Given the description of an element on the screen output the (x, y) to click on. 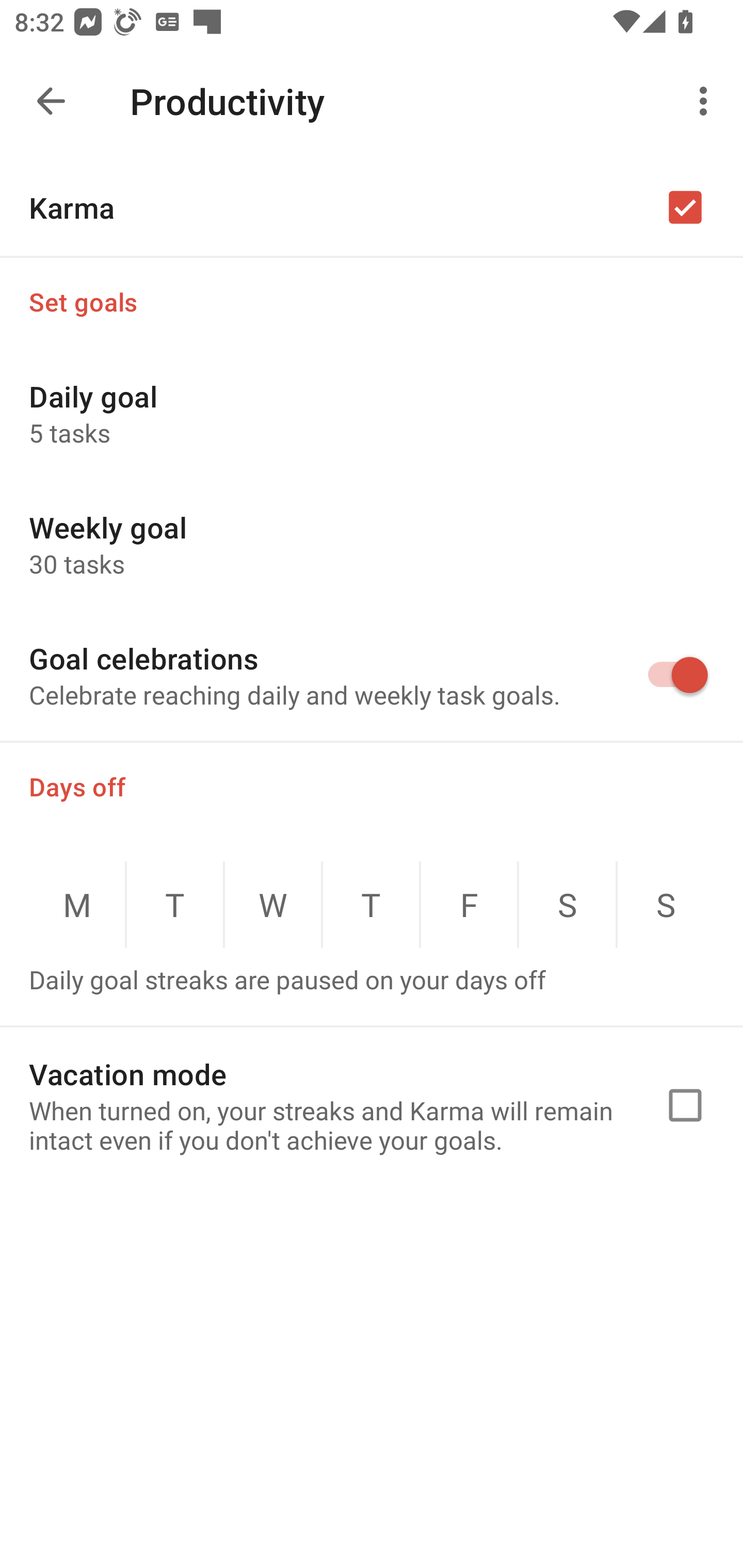
Navigate up (50, 101)
More options (706, 101)
Karma (371, 206)
Daily goal 5 tasks (371, 413)
Weekly goal 30 tasks (371, 543)
M (76, 904)
T (174, 904)
W (272, 904)
T (371, 904)
F (469, 904)
S (567, 904)
S (665, 904)
